Given the description of an element on the screen output the (x, y) to click on. 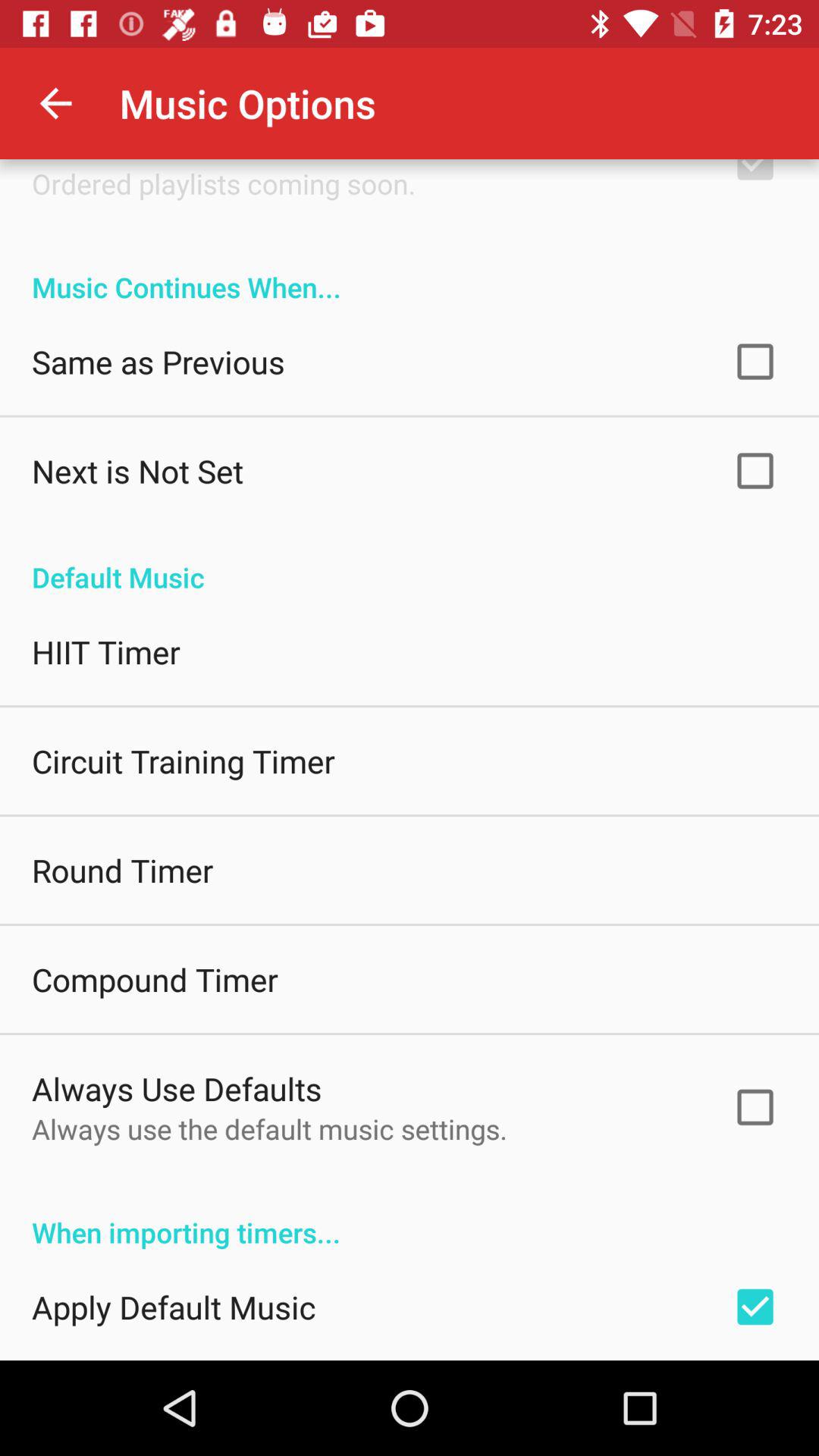
select check box below the time on top right of page (755, 175)
